Given the description of an element on the screen output the (x, y) to click on. 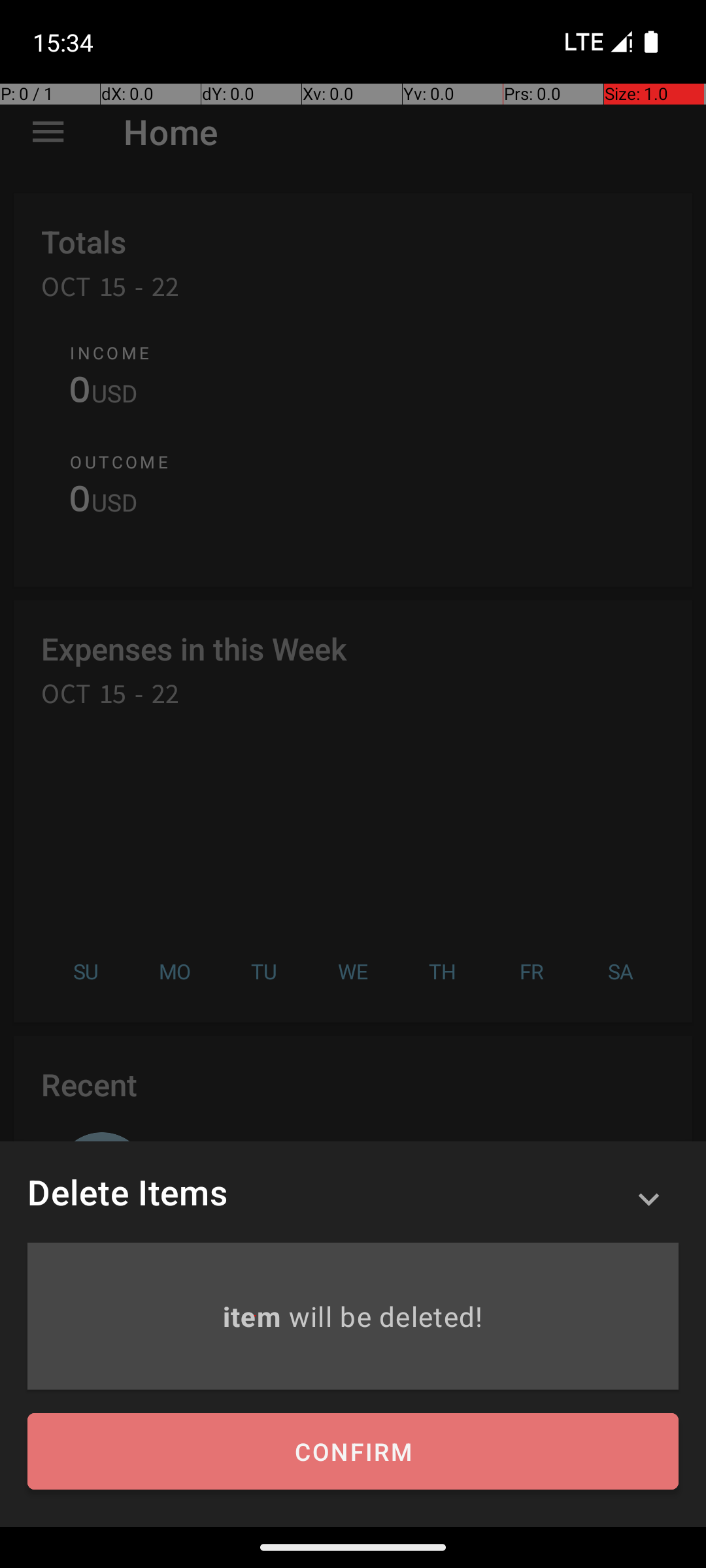
Delete Items Element type: android.widget.TextView (127, 1191)
item  Element type: android.widget.TextView (255, 1315)
will be deleted! Element type: android.widget.TextView (385, 1315)
CONFIRM Element type: android.widget.Button (352, 1451)
